Given the description of an element on the screen output the (x, y) to click on. 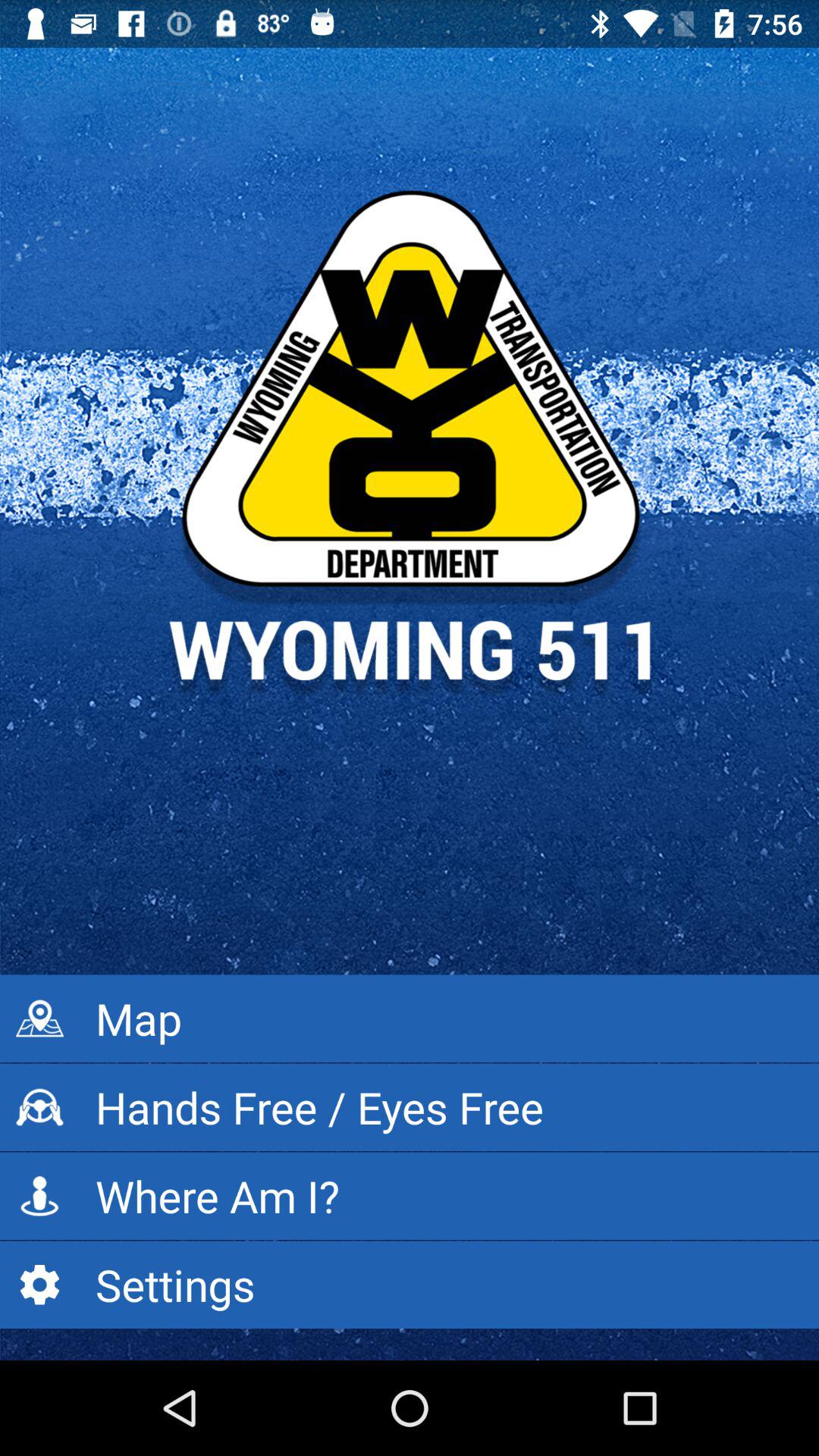
turn off the map icon (409, 1018)
